Given the description of an element on the screen output the (x, y) to click on. 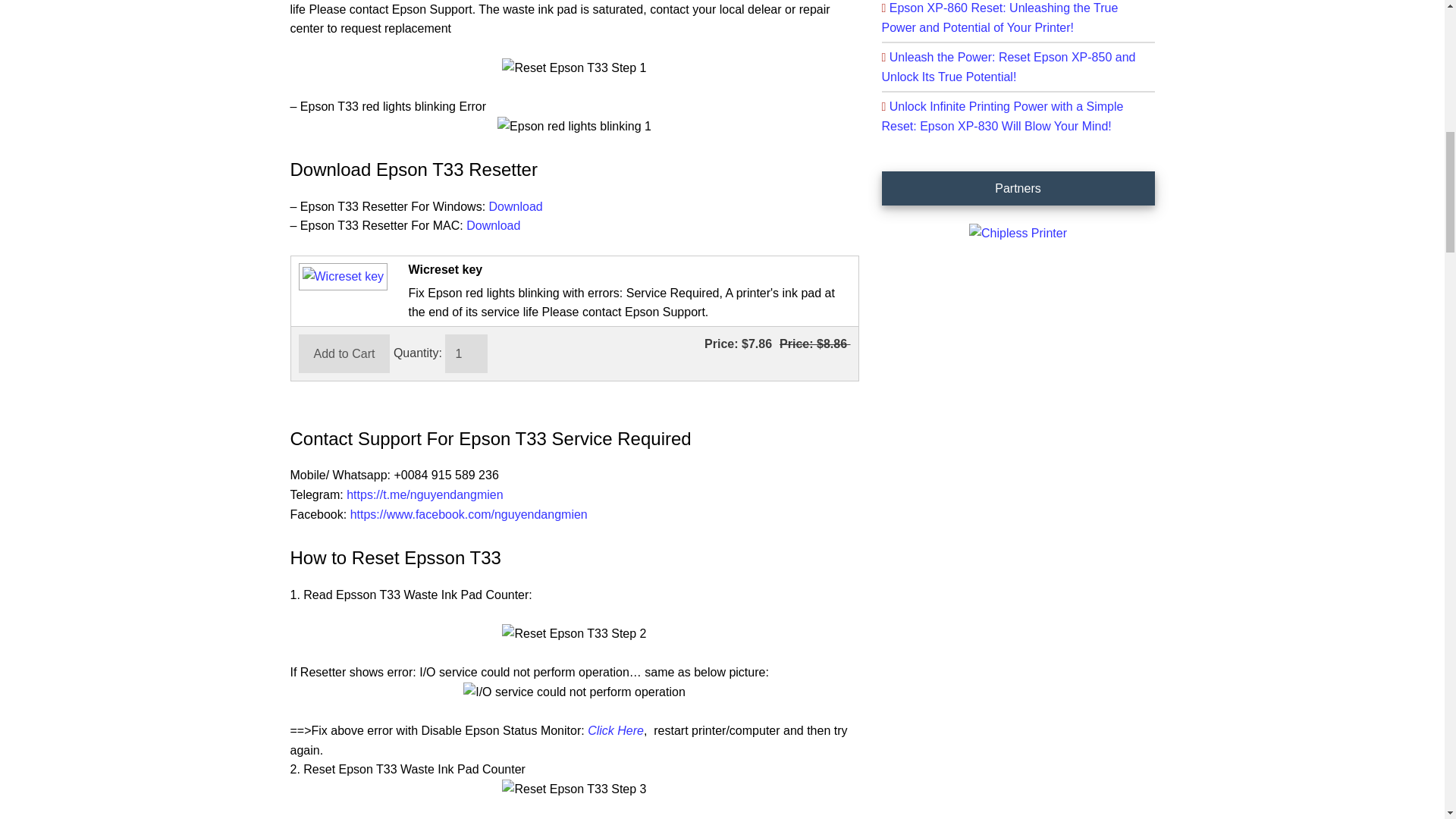
Click Here (615, 730)
Wicreset key (340, 276)
Add to Cart (344, 353)
Epson red lights blinking 1 (573, 126)
Reset Epson T33 Step 1 (574, 67)
Download (492, 225)
Download (516, 205)
Reset Epson T33 Step 2 (574, 633)
Reset Epson T33 Step 3 (574, 789)
Add to Cart (344, 353)
1 (466, 353)
